Given the description of an element on the screen output the (x, y) to click on. 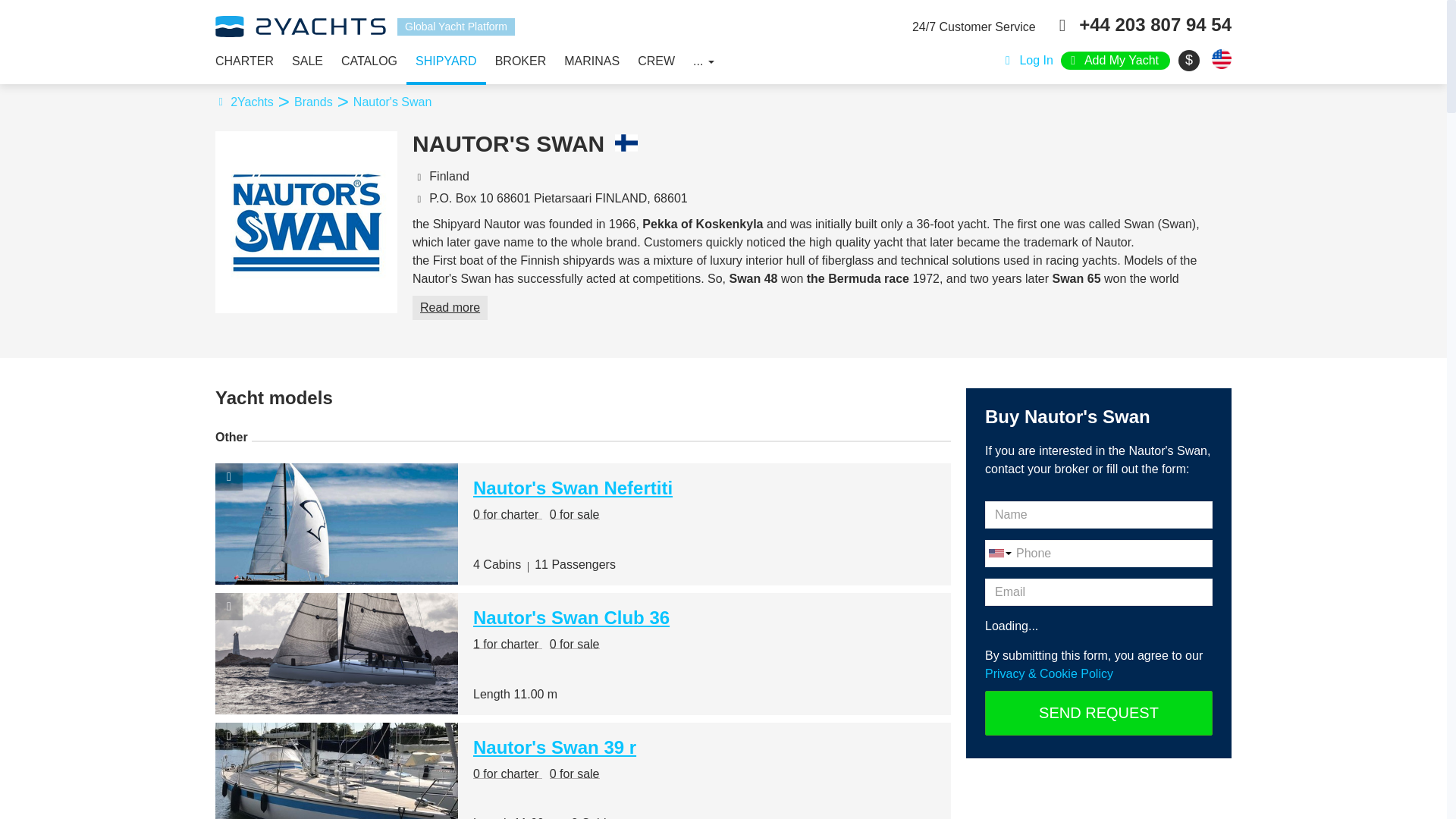
Location (419, 175)
Brands (321, 101)
CATALOG (368, 61)
SHIPYARD (446, 61)
Compare (229, 476)
Read more (449, 307)
Add My Yacht (1115, 60)
Address (419, 197)
Nautor's Swan Nefertiti (572, 487)
Compare (229, 736)
